Given the description of an element on the screen output the (x, y) to click on. 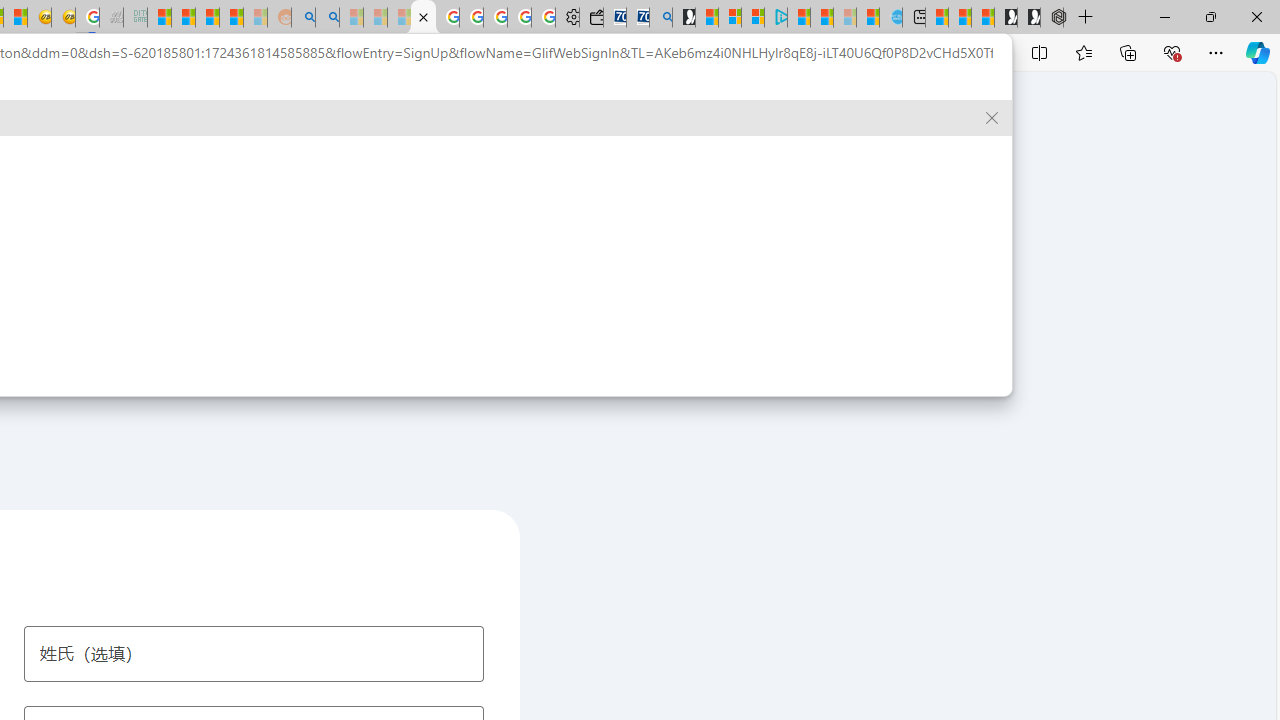
Student Loan Update: Forgiveness Program Ends This Month (231, 17)
Home | Sky Blue Bikes - Sky Blue Bikes (890, 17)
